Given the description of an element on the screen output the (x, y) to click on. 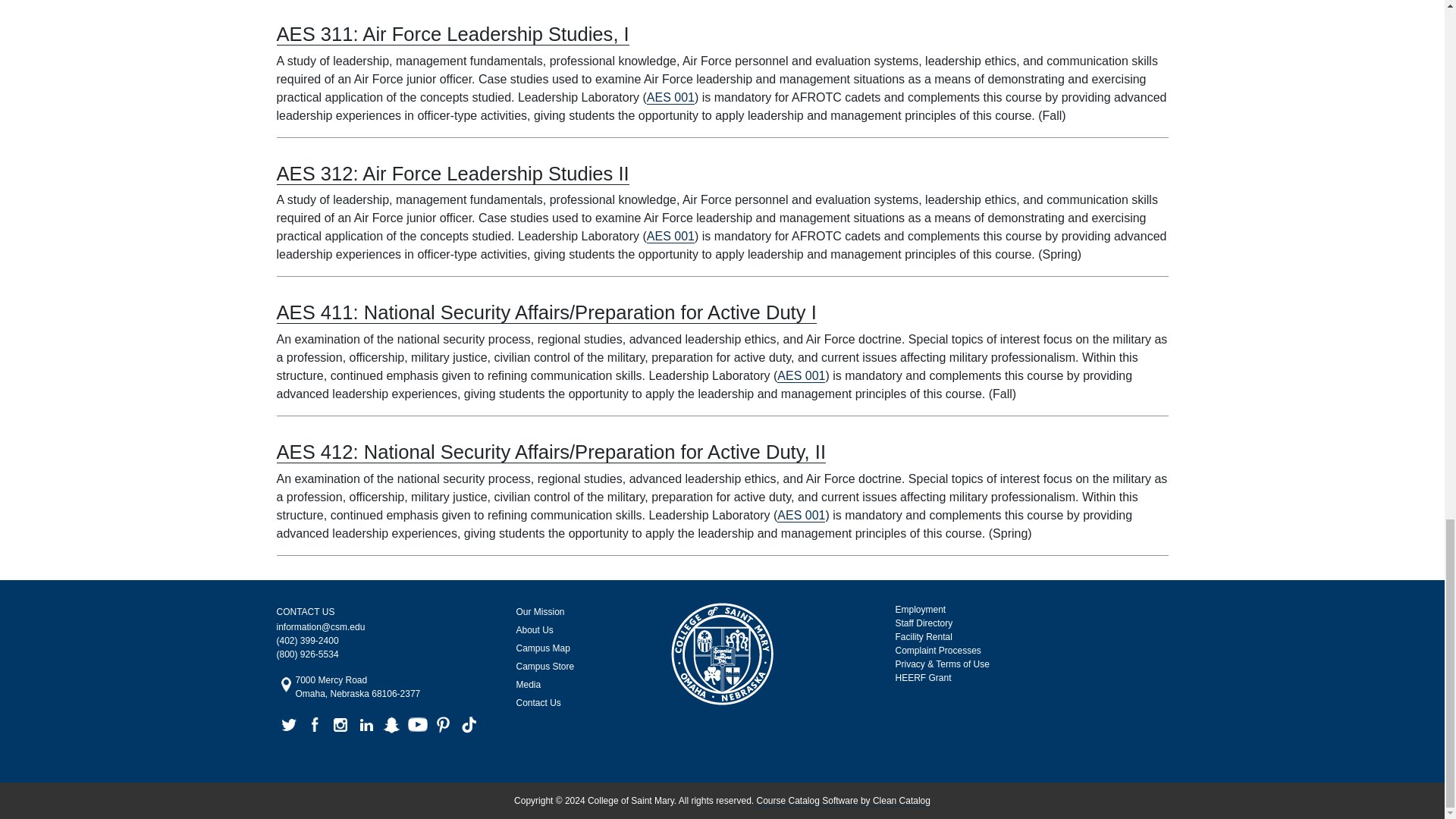
AES 312: Air Force Leadership Studies II (452, 173)
About Us (576, 629)
Our Mission (576, 611)
snapchat (390, 724)
pinterest (442, 724)
AES 311: Air Force Leadership Studies, I (452, 34)
Campus Store (357, 686)
linkedin (576, 666)
AES 001 (365, 724)
